Given the description of an element on the screen output the (x, y) to click on. 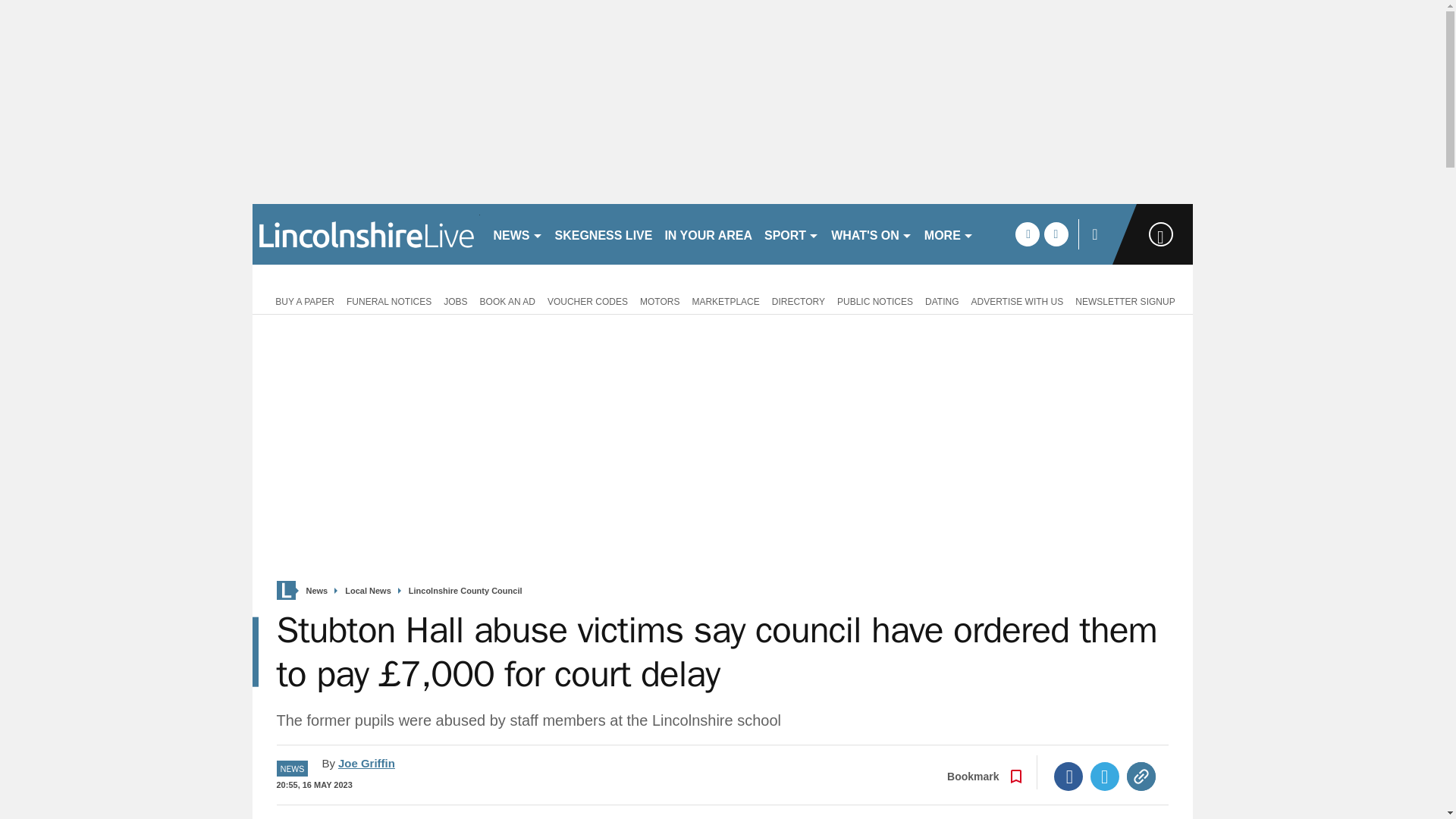
lincolnshirelive (365, 233)
NEWS (517, 233)
IN YOUR AREA (708, 233)
WHAT'S ON (871, 233)
BUY A PAPER (301, 300)
SKEGNESS LIVE (603, 233)
SPORT (791, 233)
Twitter (1104, 776)
facebook (1026, 233)
Facebook (1068, 776)
